Given the description of an element on the screen output the (x, y) to click on. 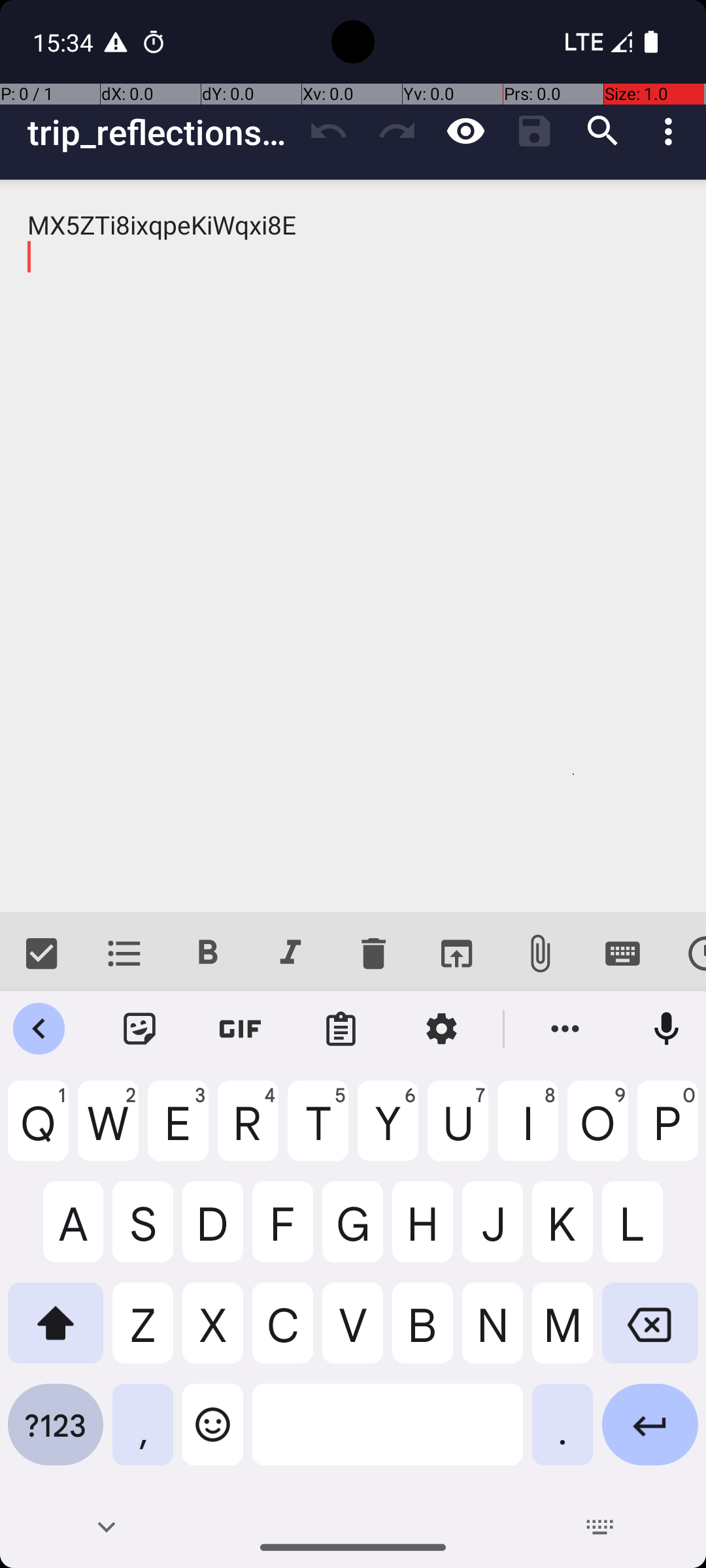
trip_reflections_recent_2023_07_04 Element type: android.widget.TextView (160, 131)
MX5ZTi8ixqpeKiWqxi8E
 Element type: android.widget.EditText (353, 545)
Q Element type: android.widget.FrameLayout (38, 1130)
E Element type: android.widget.FrameLayout (178, 1130)
R Element type: android.widget.FrameLayout (248, 1130)
Y Element type: android.widget.FrameLayout (387, 1130)
U Element type: android.widget.FrameLayout (457, 1130)
I Element type: android.widget.FrameLayout (527, 1130)
O Element type: android.widget.FrameLayout (597, 1130)
P Element type: android.widget.FrameLayout (667, 1130)
A Element type: android.widget.FrameLayout (55, 1231)
D Element type: android.widget.FrameLayout (212, 1231)
G Element type: android.widget.FrameLayout (352, 1231)
H Element type: android.widget.FrameLayout (422, 1231)
J Element type: android.widget.FrameLayout (492, 1231)
K Element type: android.widget.FrameLayout (562, 1231)
L Element type: android.widget.FrameLayout (649, 1231)
Z Element type: android.widget.FrameLayout (142, 1332)
X Element type: android.widget.FrameLayout (212, 1332)
C Element type: android.widget.FrameLayout (282, 1332)
V Element type: android.widget.FrameLayout (352, 1332)
B Element type: android.widget.FrameLayout (422, 1332)
N Element type: android.widget.FrameLayout (492, 1332)
